Given the description of an element on the screen output the (x, y) to click on. 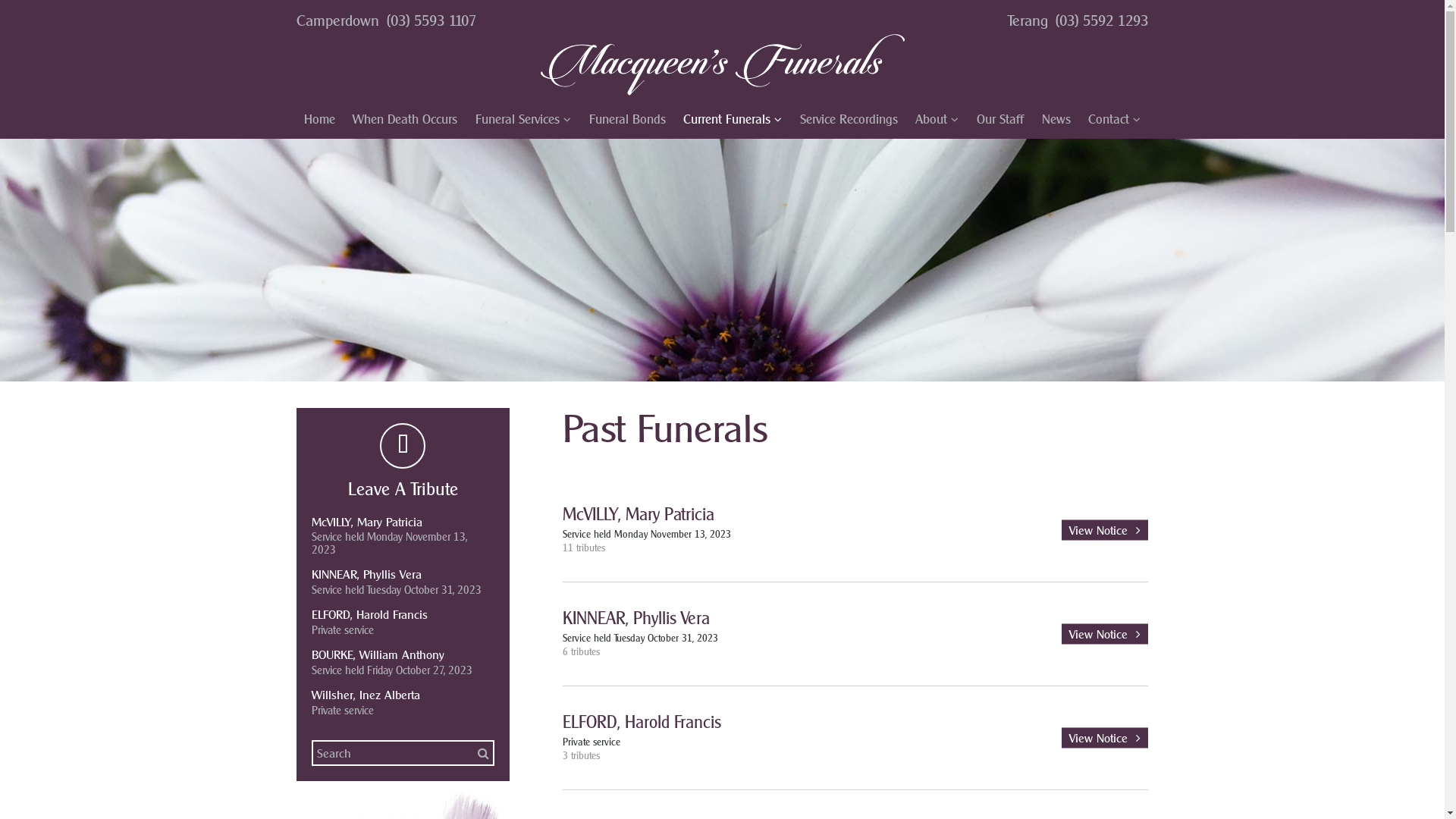
Search for: Element type: hover (402, 753)
Willsher, Inez Alberta Element type: text (402, 695)
Our Staff Element type: text (1000, 118)
News Element type: text (1056, 118)
Funeral Bonds Element type: text (627, 118)
Current Funerals Element type: text (732, 119)
When Death Occurs Element type: text (404, 118)
ELFORD, Harold Francis Element type: text (402, 614)
View Notice Element type: text (1104, 634)
McVILLY, Mary Patricia Element type: text (638, 514)
Home Element type: text (319, 118)
KINNEAR, Phyllis Vera Element type: text (635, 617)
About Element type: text (936, 119)
Contact Element type: text (1114, 119)
Funeral Services Element type: text (522, 119)
View Notice Element type: text (1104, 738)
ELFORD, Harold Francis Element type: text (641, 721)
6 tributes Element type: text (580, 651)
McVILLY, Mary Patricia Element type: text (402, 522)
11 tributes Element type: text (583, 548)
KINNEAR, Phyllis Vera Element type: text (402, 574)
Service Recordings Element type: text (848, 118)
View Notice Element type: text (1104, 529)
BOURKE, William Anthony Element type: text (402, 655)
3 tributes Element type: text (580, 755)
